Given the description of an element on the screen output the (x, y) to click on. 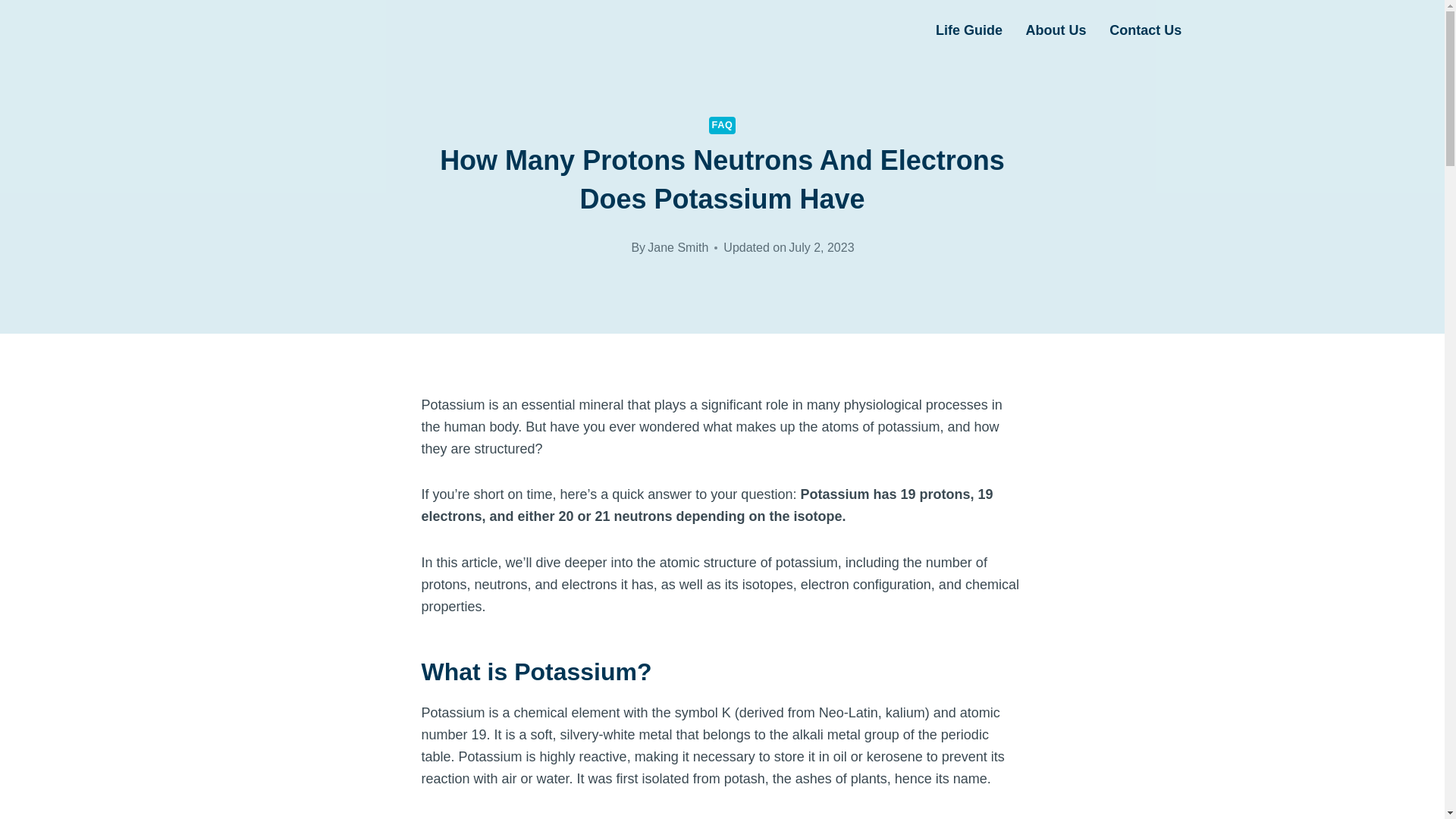
Contact Us (1145, 30)
Life Guide (969, 30)
Jane Smith (677, 246)
FAQ (722, 125)
About Us (1055, 30)
